Given the description of an element on the screen output the (x, y) to click on. 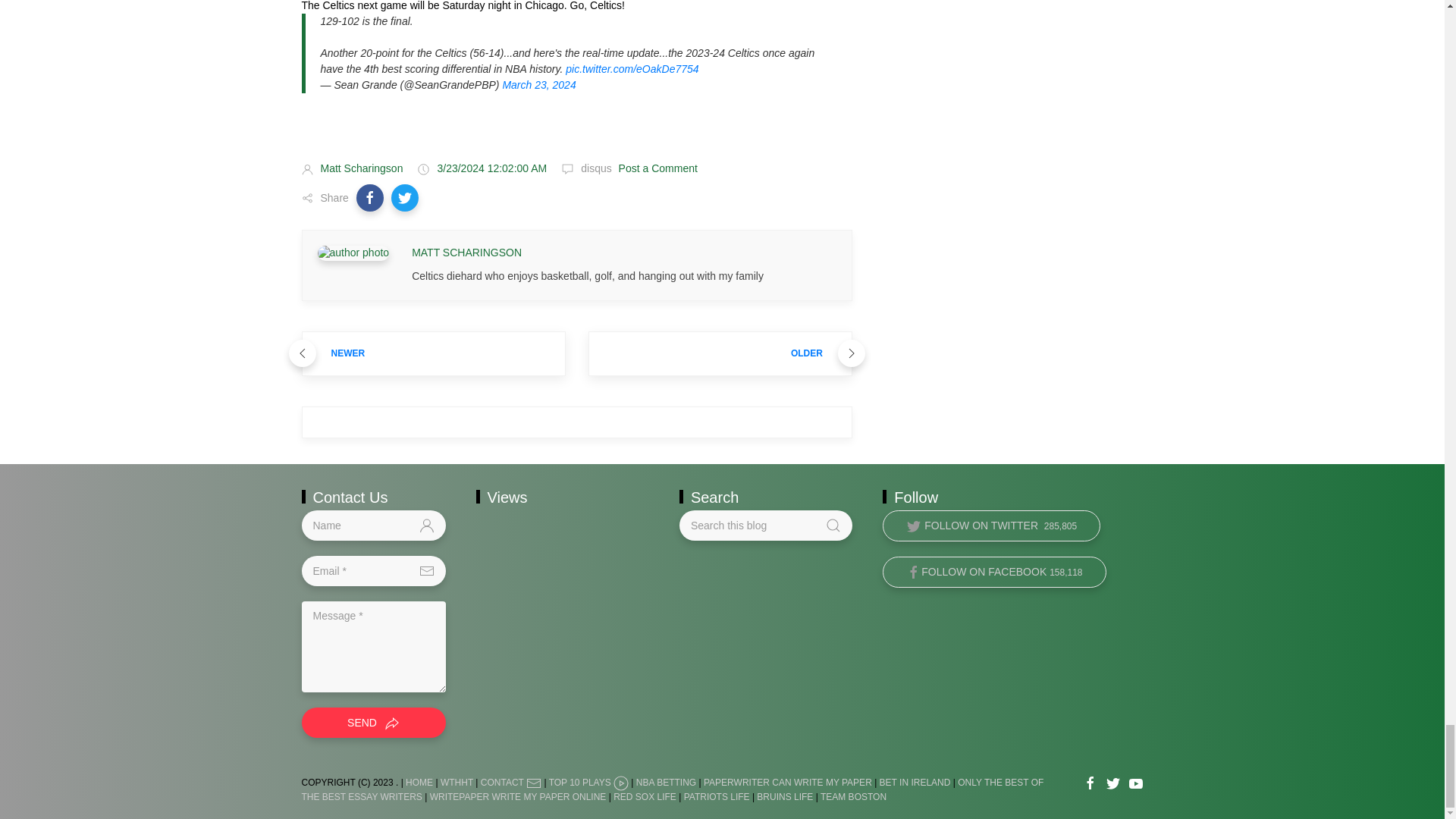
author profile (352, 252)
author profile (466, 253)
NEWER (433, 353)
Post a Comment (656, 168)
author profile (361, 168)
permanent link (491, 168)
OLDER (719, 353)
March 23, 2024 (538, 84)
MATT SCHARINGSON (466, 253)
Matt Scharingson (361, 168)
